Given the description of an element on the screen output the (x, y) to click on. 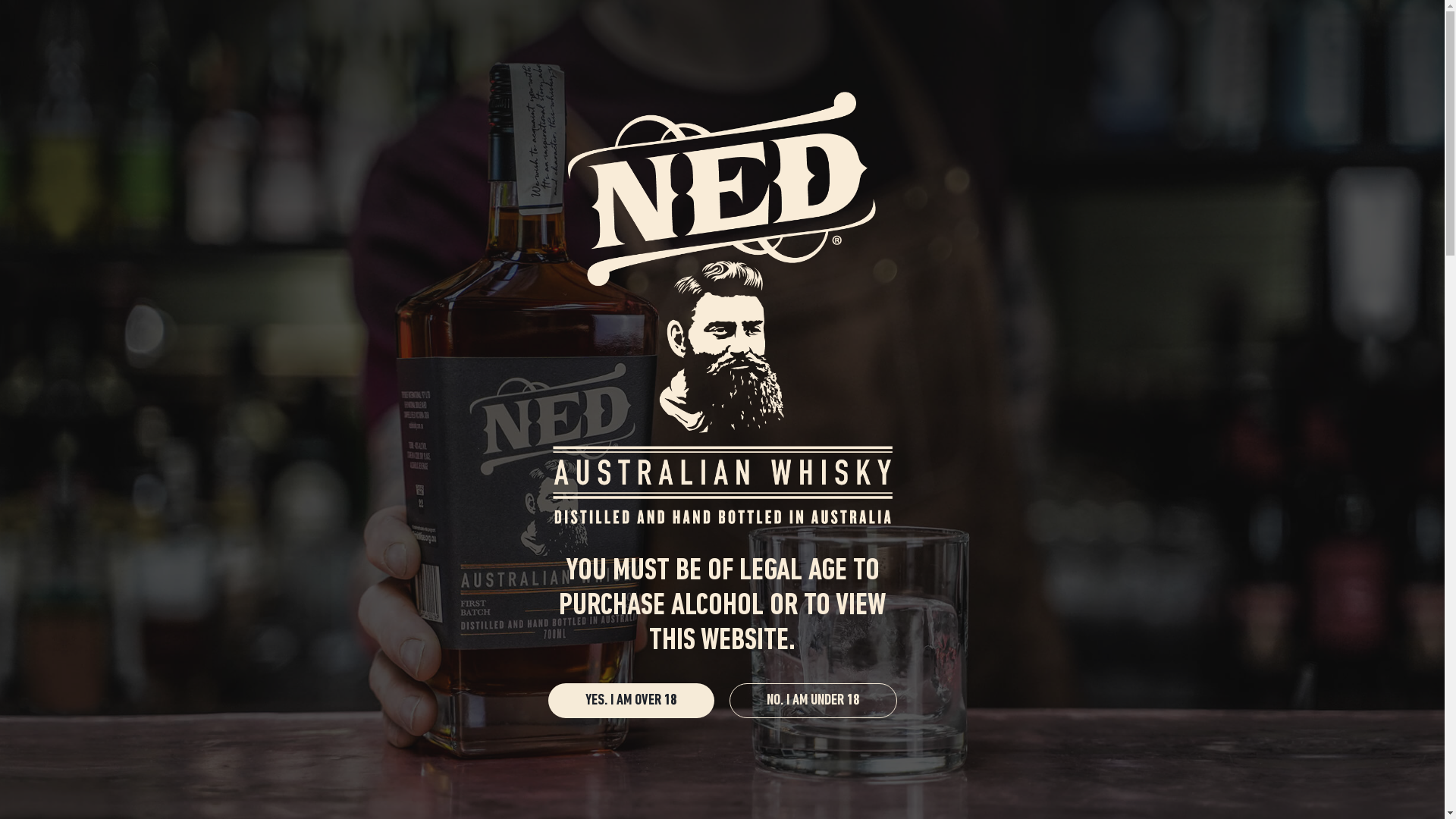
YES. I AM OVER 18 Element type: text (630, 700)
OWN A BARREL Element type: text (815, 89)
Filter By Element type: text (1119, 525)
All Products Element type: text (318, 526)
Barrel Program Element type: text (736, 526)
WIN WITH NED Element type: text (1118, 89)
Facebook Element type: text (342, 21)
NED STORY Element type: text (636, 89)
CONTACT Element type: text (1032, 89)
OUR WHISKY Element type: text (721, 89)
Instagram Element type: text (315, 21)
NED NEWS Element type: text (903, 89)
Youtube Element type: text (372, 21)
Cans Element type: text (570, 526)
NO. I AM UNDER 18 Element type: text (812, 700)
Whisky Element type: text (393, 526)
HOME Element type: text (567, 89)
SHOP Element type: text (968, 89)
SIGN IN Element type: text (1071, 21)
0 Element type: text (1136, 21)
Merchandise Element type: text (641, 526)
The Wanted Series Element type: text (484, 526)
